Given the description of an element on the screen output the (x, y) to click on. 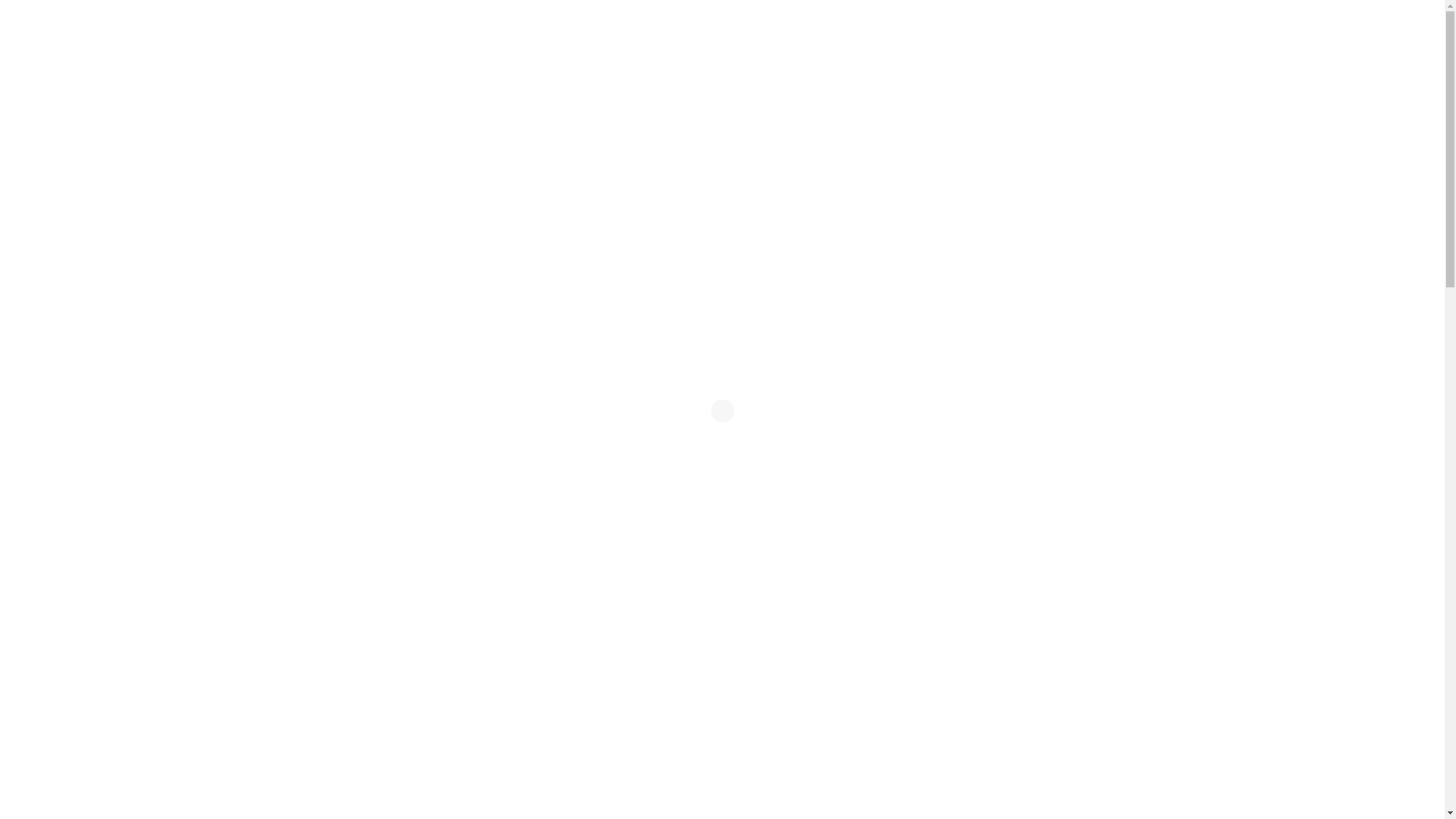
WELL-BEING PROGRAMS Element type: text (447, 71)
HLS SYMPOSIUM Element type: text (722, 71)
Other Element type: text (412, 718)
ABOUT US Element type: text (915, 71)
MEMBER LOGIN Element type: text (1345, 70)
CONTACT Element type: text (996, 71)
HEALTH SCREENING Element type: text (595, 71)
RESOURCES
NEW Element type: text (827, 71)
